Given the description of an element on the screen output the (x, y) to click on. 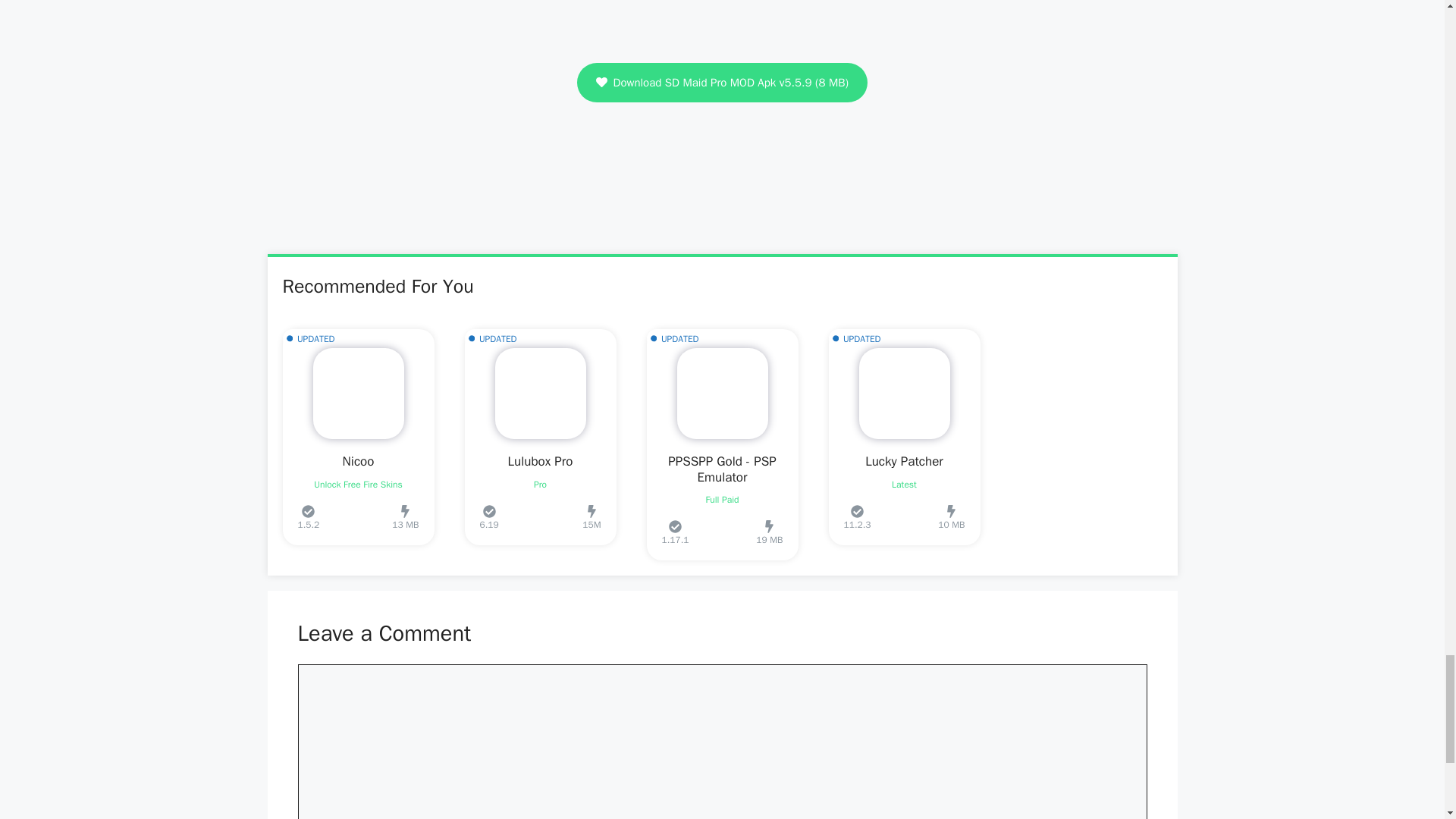
Lucky Patcher (903, 461)
Nicoo (358, 461)
PPSSPP Gold - PSP Emulator (722, 468)
Lulubox Pro (540, 461)
